Given the description of an element on the screen output the (x, y) to click on. 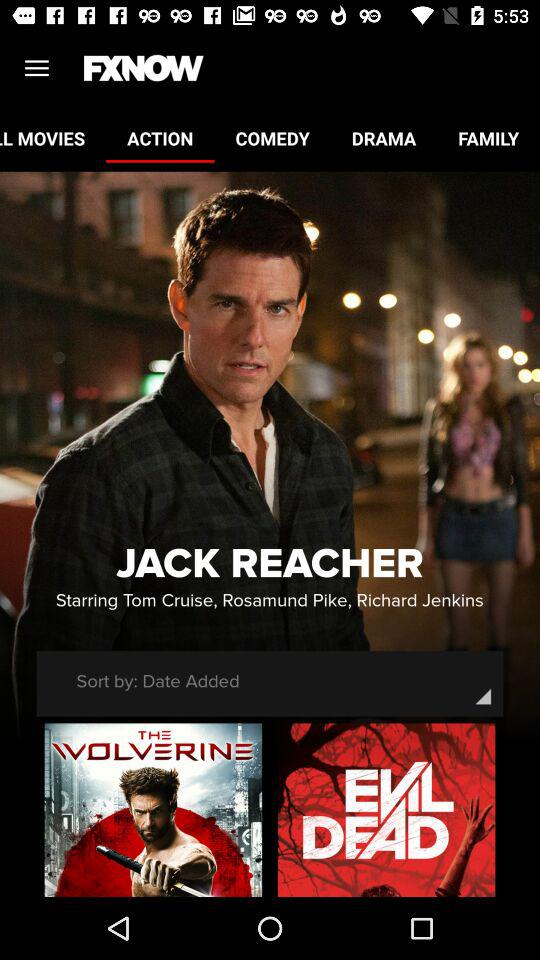
select sort by date icon (157, 681)
